Given the description of an element on the screen output the (x, y) to click on. 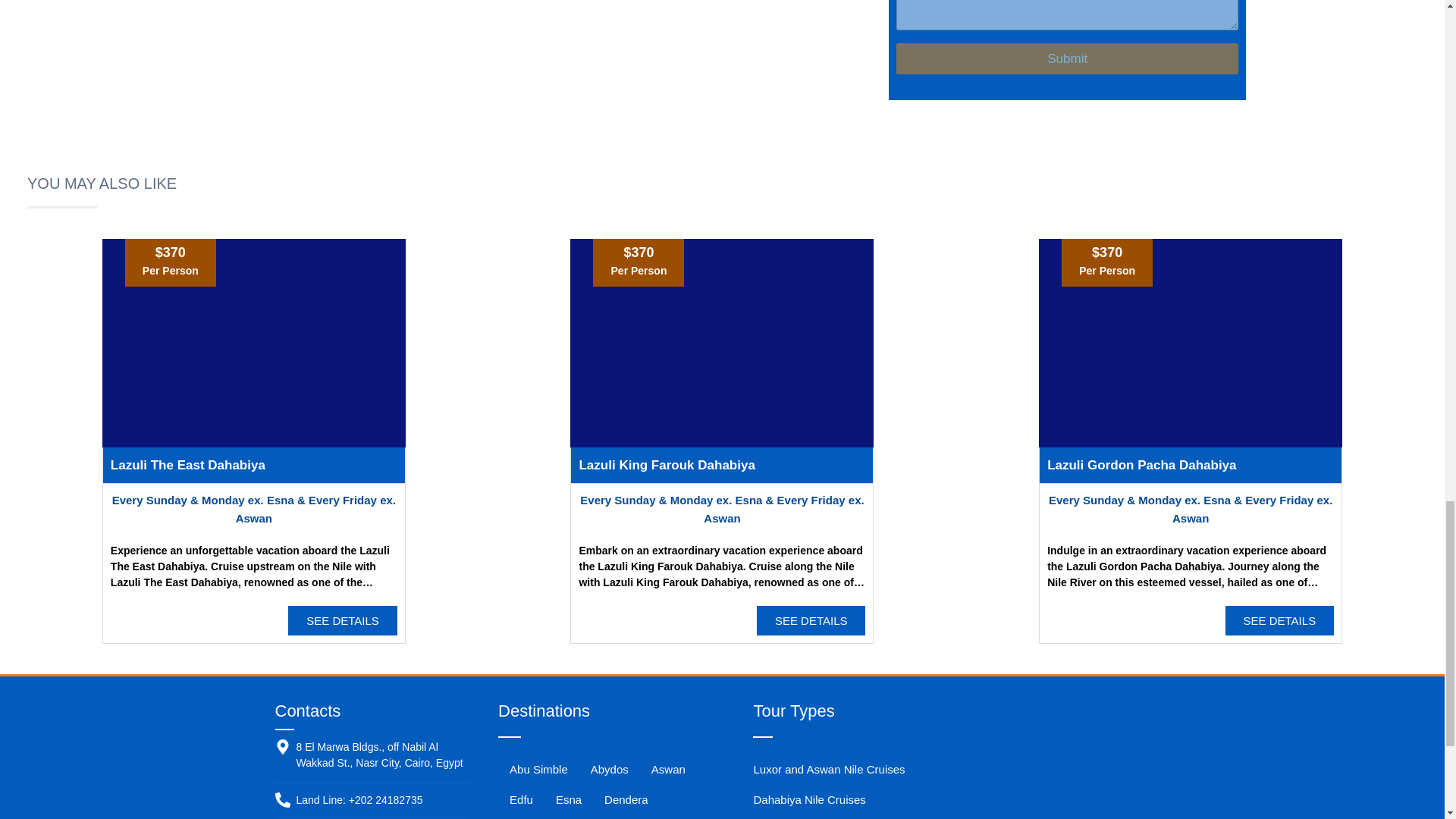
Submit (1067, 58)
Lazuli The East Dahabiya (187, 464)
SEE DETAILS (342, 620)
